Given the description of an element on the screen output the (x, y) to click on. 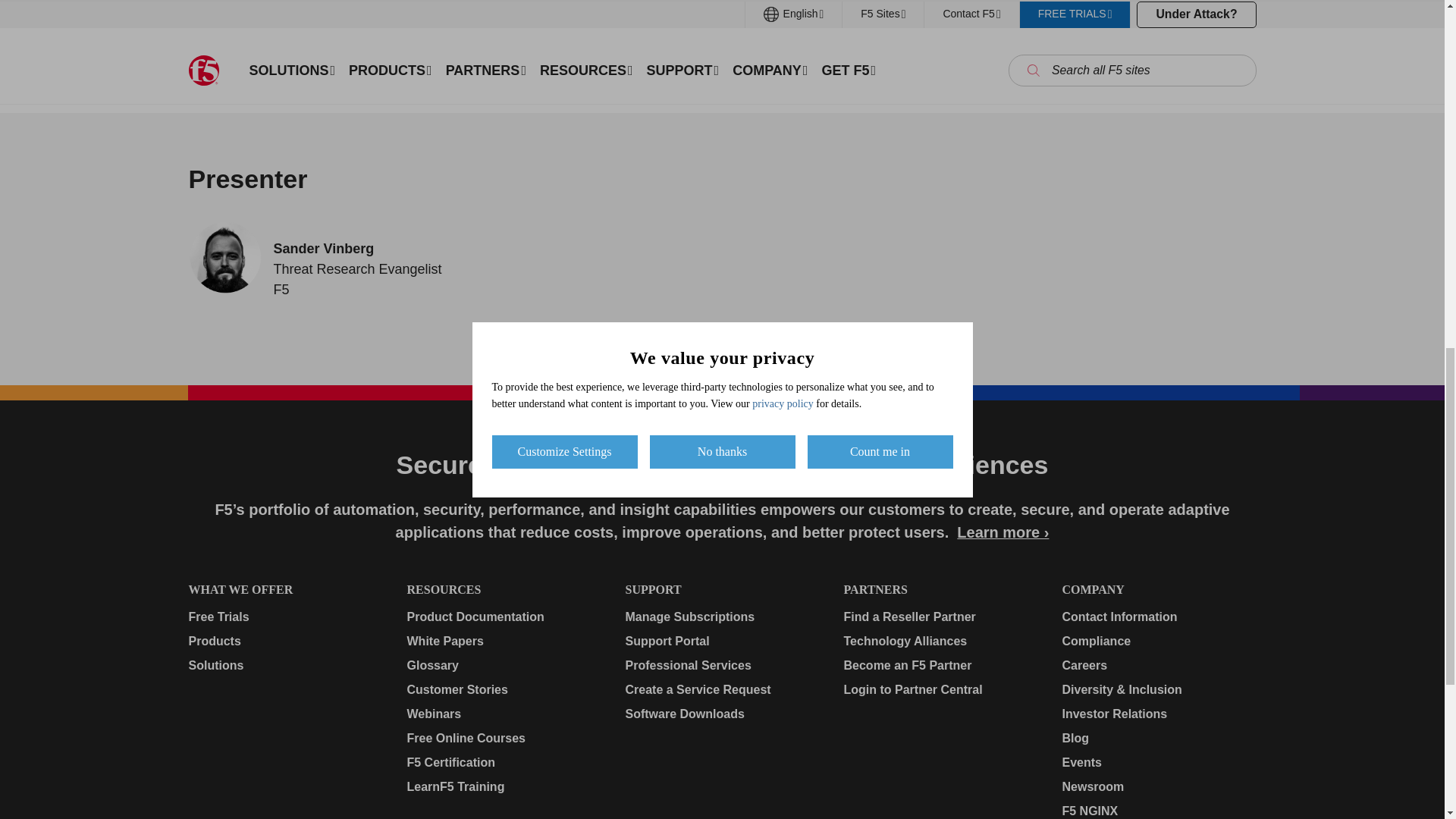
Support Portal (721, 641)
LearnF5 Training (502, 787)
Free Trials (284, 617)
Solutions (284, 665)
Products (284, 641)
Free Online Courses (502, 738)
White Papers (502, 641)
Product Documentation (502, 617)
Glossary (502, 665)
Customer Stories (502, 689)
Webinars (502, 714)
F5 Certification (502, 762)
Manage Subscriptions (721, 617)
